Given the description of an element on the screen output the (x, y) to click on. 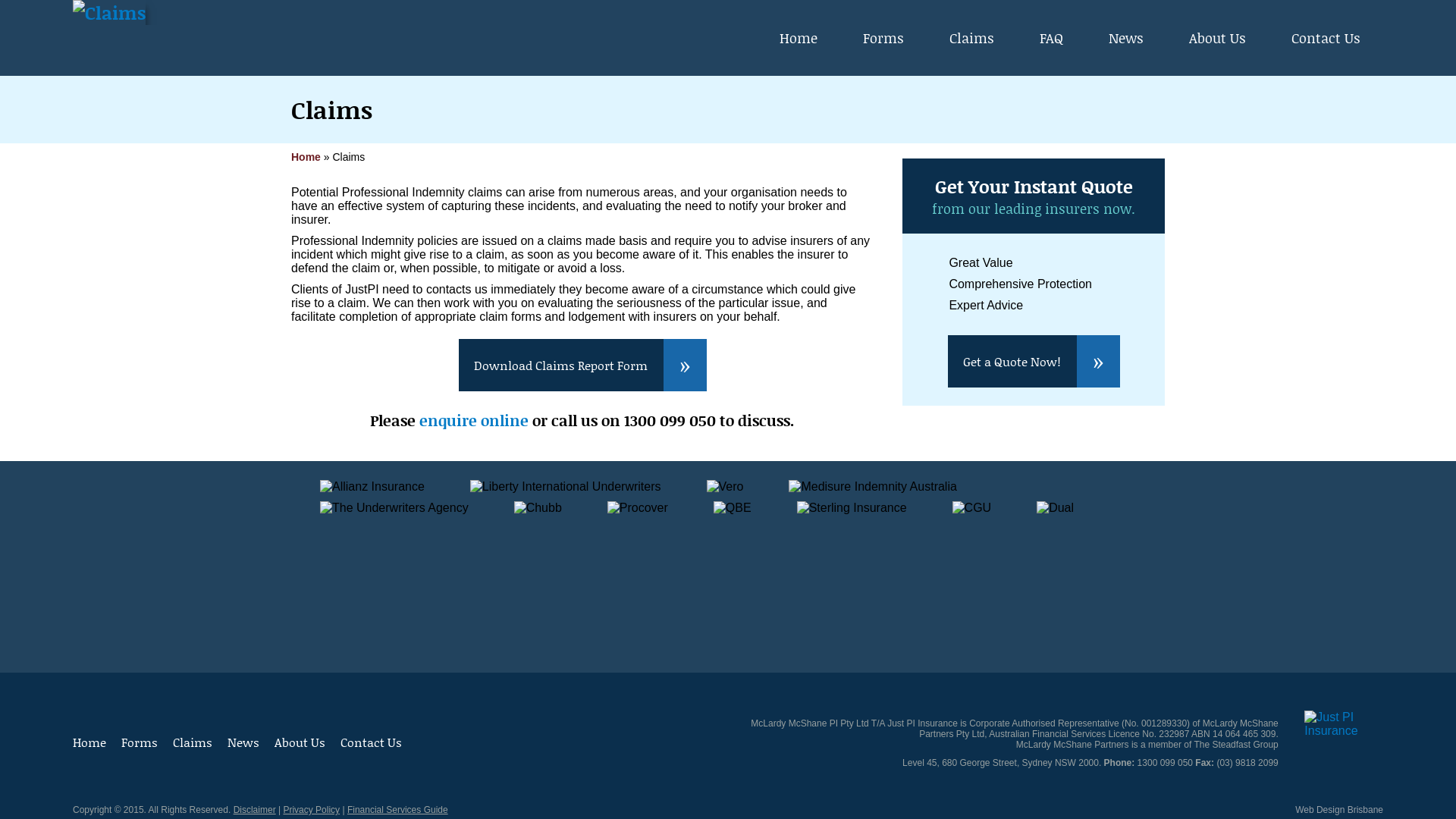
Home Element type: text (798, 37)
Dual Element type: hover (1054, 507)
Web Design Brisbane Element type: text (1339, 809)
enquire online Element type: text (473, 419)
Forms Element type: text (883, 37)
Allianz Insurance Element type: hover (372, 486)
Claims Element type: hover (108, 12)
News Element type: text (243, 741)
Claims Element type: text (192, 741)
FAQ Element type: text (1050, 37)
Just PI Insurance Element type: hover (1343, 723)
Contact Us Element type: text (1325, 37)
Get a Quote Now! Element type: text (1033, 361)
Procover Element type: hover (637, 507)
About Us Element type: text (299, 741)
The Underwriters Agency Element type: hover (394, 507)
Financial Services Guide Element type: text (397, 809)
Liberty International Underwriters Element type: hover (565, 486)
Disclaimer Element type: text (254, 809)
Sterling Insurance Element type: hover (851, 507)
Home Element type: text (305, 156)
Forms Element type: text (139, 741)
About Us Element type: text (1217, 37)
Claims Element type: text (971, 37)
Chubb Element type: hover (537, 507)
Contact Us Element type: text (370, 741)
Skip to main content Element type: text (690, 2)
CGU Element type: hover (971, 507)
QBE Element type: hover (732, 507)
News Element type: text (1125, 37)
Vero Element type: hover (724, 486)
Privacy Policy Element type: text (310, 809)
Download Claims Report Form Element type: text (582, 364)
Home Element type: text (89, 741)
Medisure Indemnity Australia Element type: hover (872, 486)
